Given the description of an element on the screen output the (x, y) to click on. 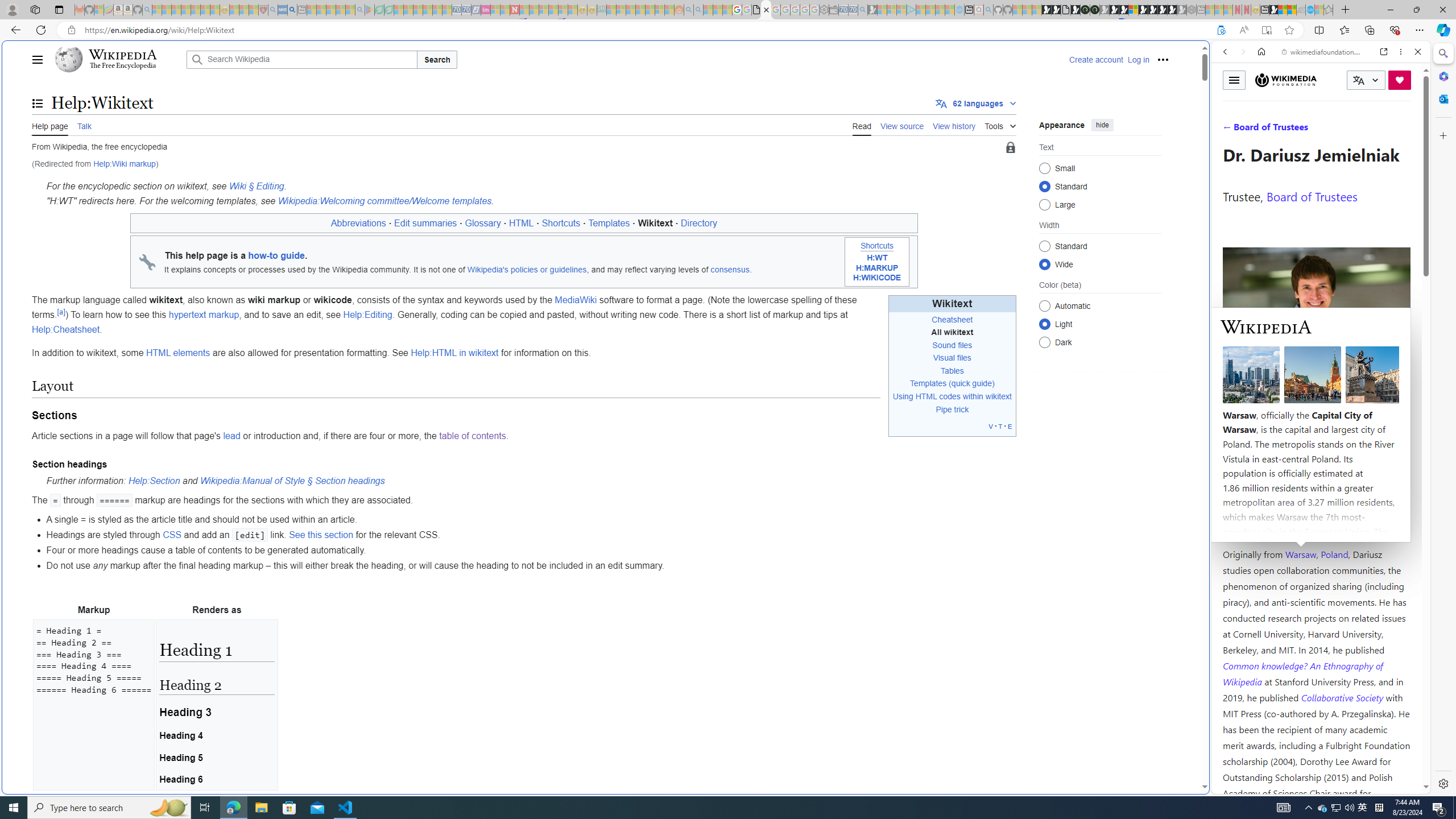
Poland (1334, 554)
Templates (quick guide) (951, 382)
Warsaw (1300, 554)
Tables (951, 370)
Future Focus Report 2024 (1094, 9)
Page semi-protected (1010, 147)
The Free Encyclopedia (121, 65)
Glossary (482, 222)
Automatic (1044, 305)
